Given the description of an element on the screen output the (x, y) to click on. 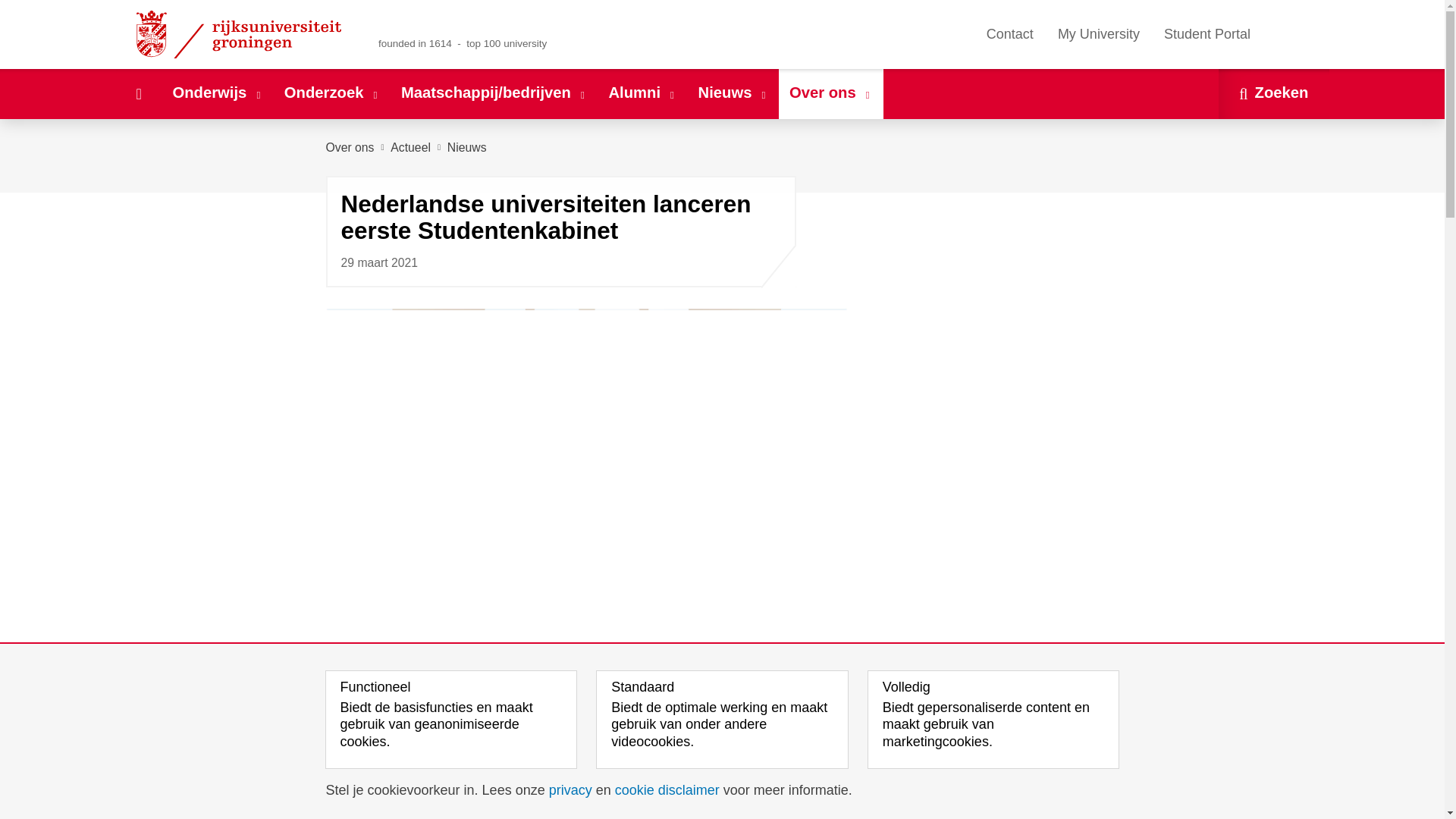
English (1293, 33)
Student Portal (1206, 34)
Taal selectie (1286, 34)
Onderzoek (331, 93)
Rijksuniversiteit Groningen (241, 34)
Nederlands (1272, 33)
Home (138, 93)
Contact (1009, 34)
Onderwijs (217, 93)
